Given the description of an element on the screen output the (x, y) to click on. 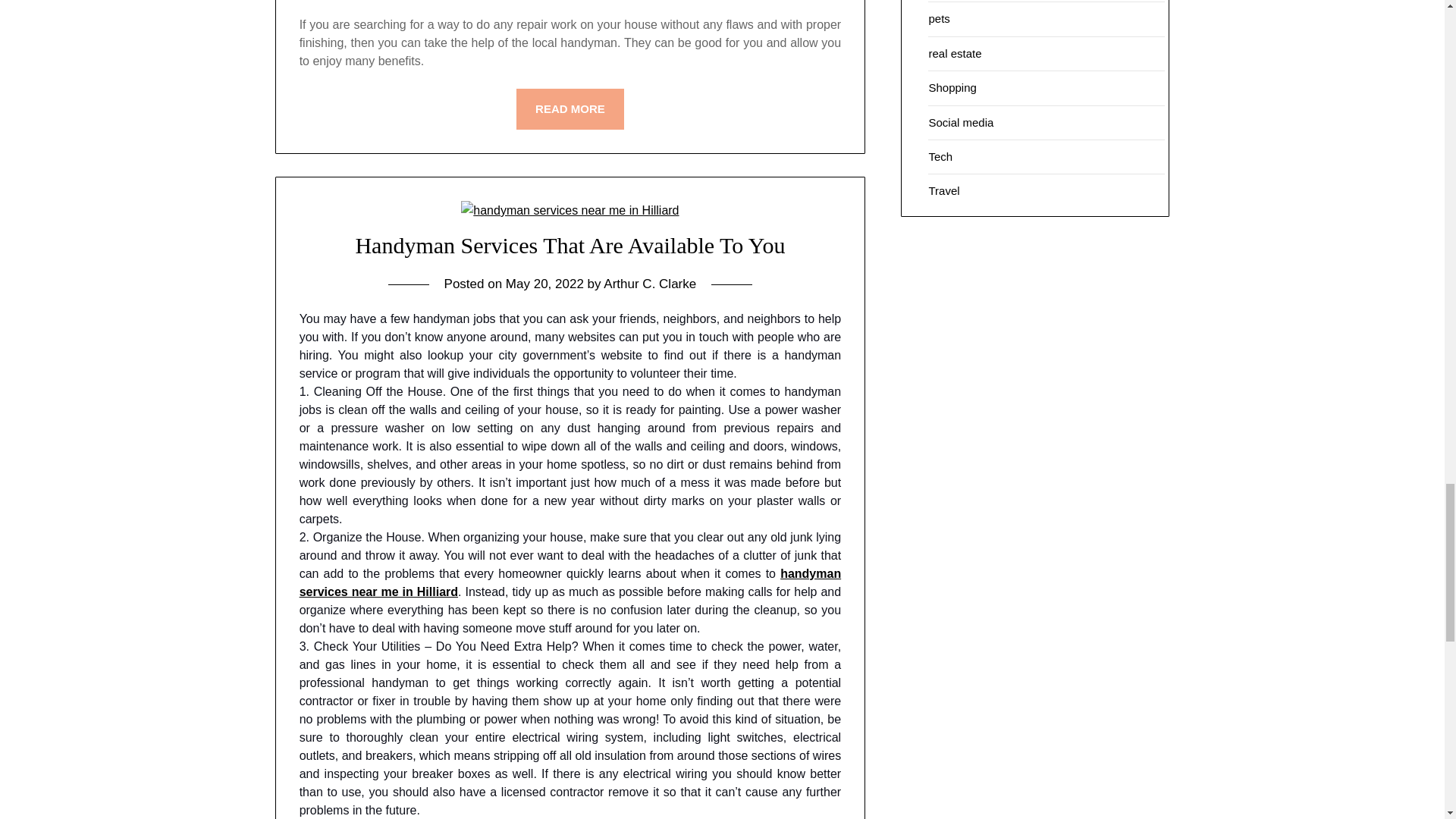
READ MORE (570, 108)
Handyman Services That Are Available To You (569, 244)
Arthur C. Clarke (649, 283)
handyman services near me in Hilliard (570, 582)
May 20, 2022 (544, 283)
